Given the description of an element on the screen output the (x, y) to click on. 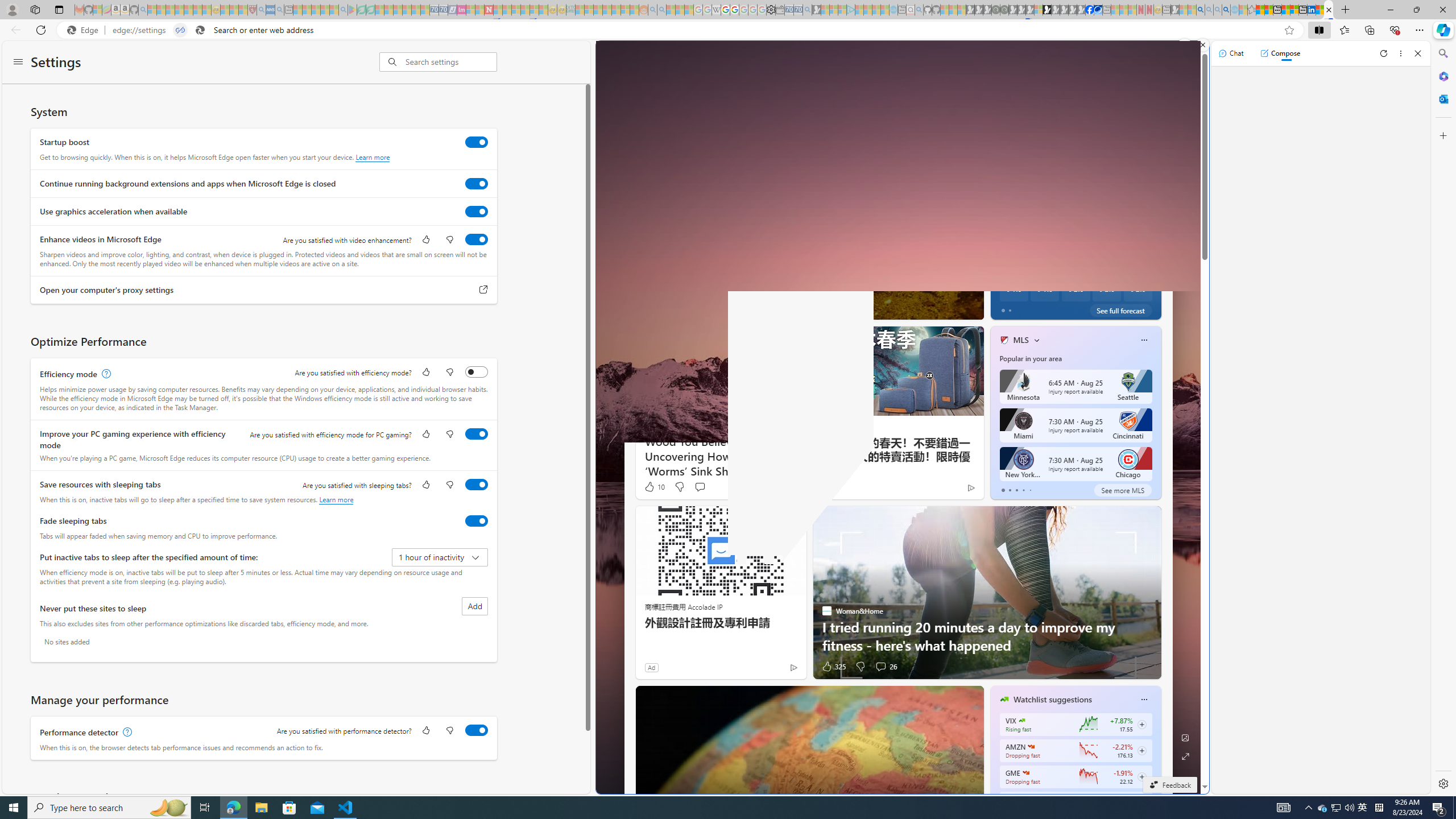
View comments 6 Comment (1054, 307)
Expand background (1185, 756)
10 Like (654, 486)
Performance detector, learn more (126, 732)
Daily (1049, 214)
23 Like (1005, 307)
